Given the description of an element on the screen output the (x, y) to click on. 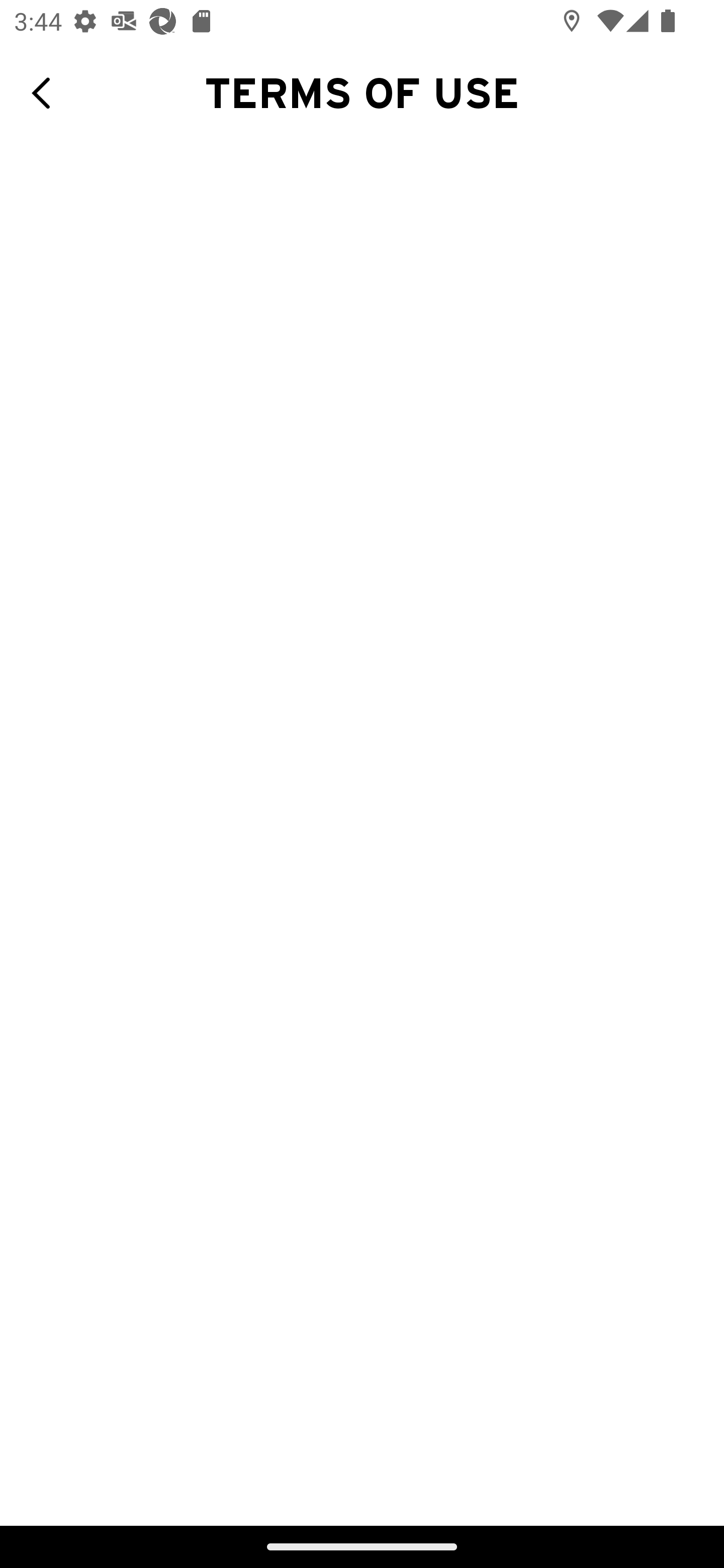
Close page. (48, 93)
